Given the description of an element on the screen output the (x, y) to click on. 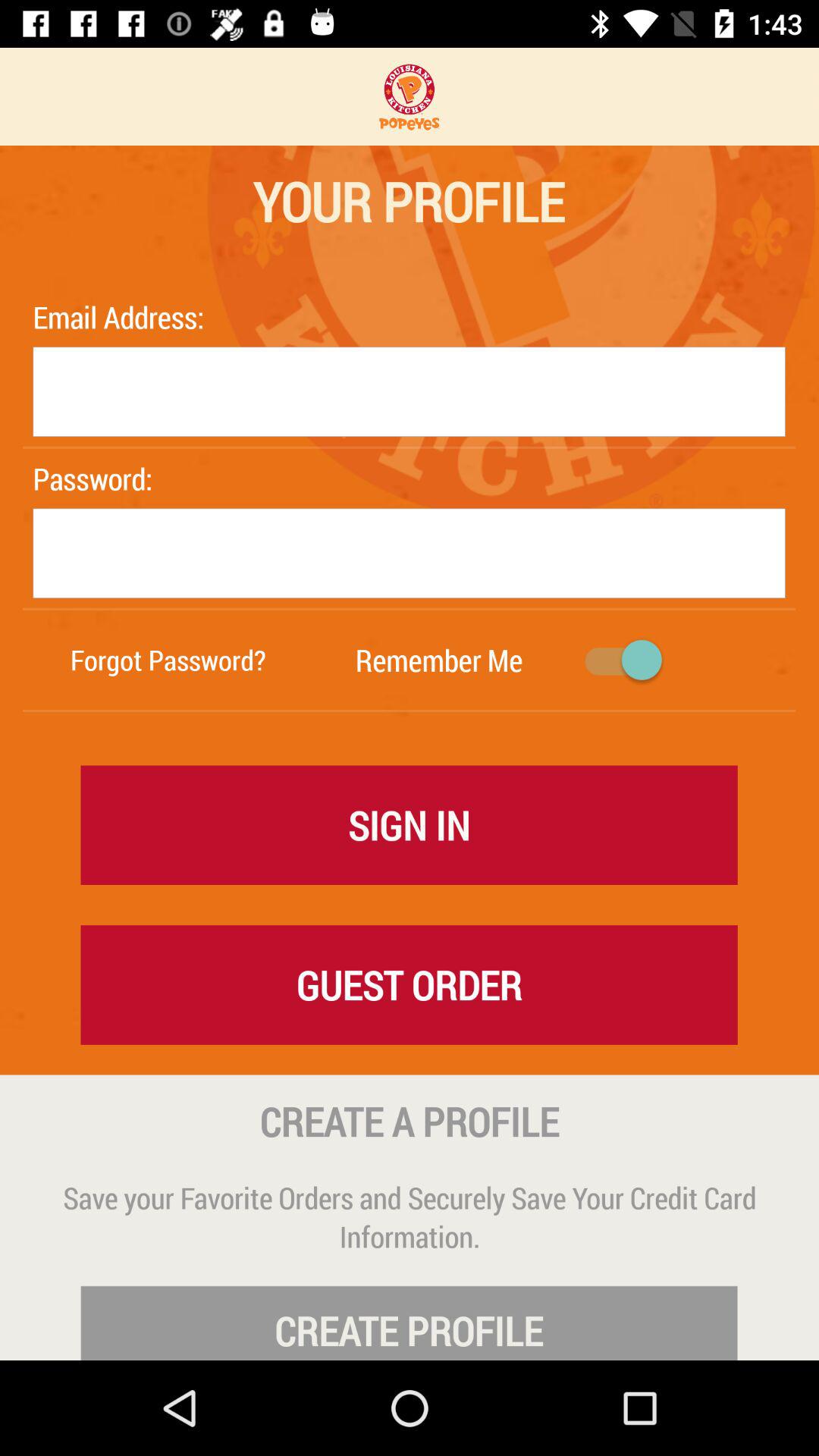
turn off the sign in (409, 824)
